Given the description of an element on the screen output the (x, y) to click on. 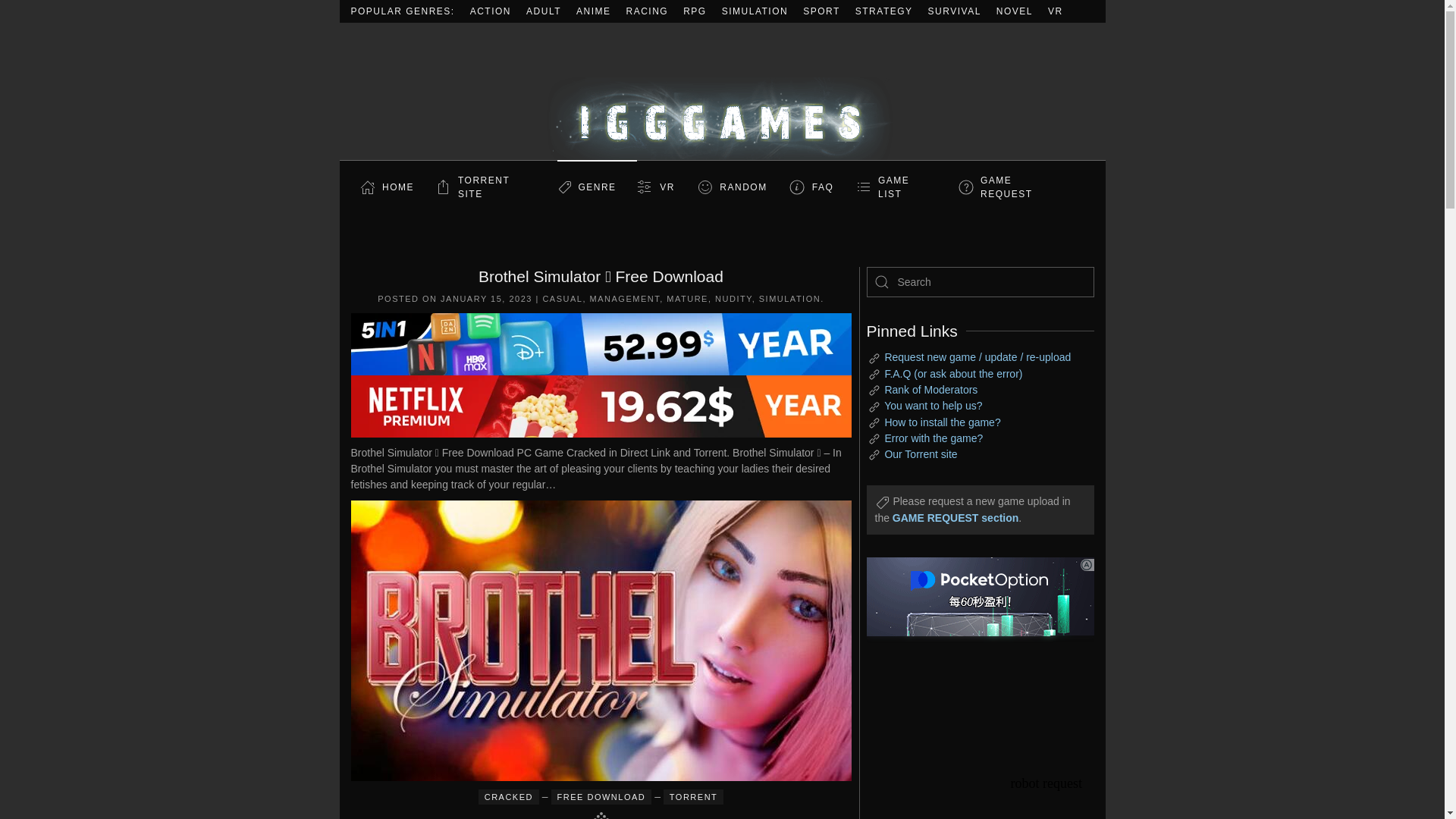
aads (979, 794)
Download VR Games Torrent (1055, 11)
a1 (979, 651)
